Given the description of an element on the screen output the (x, y) to click on. 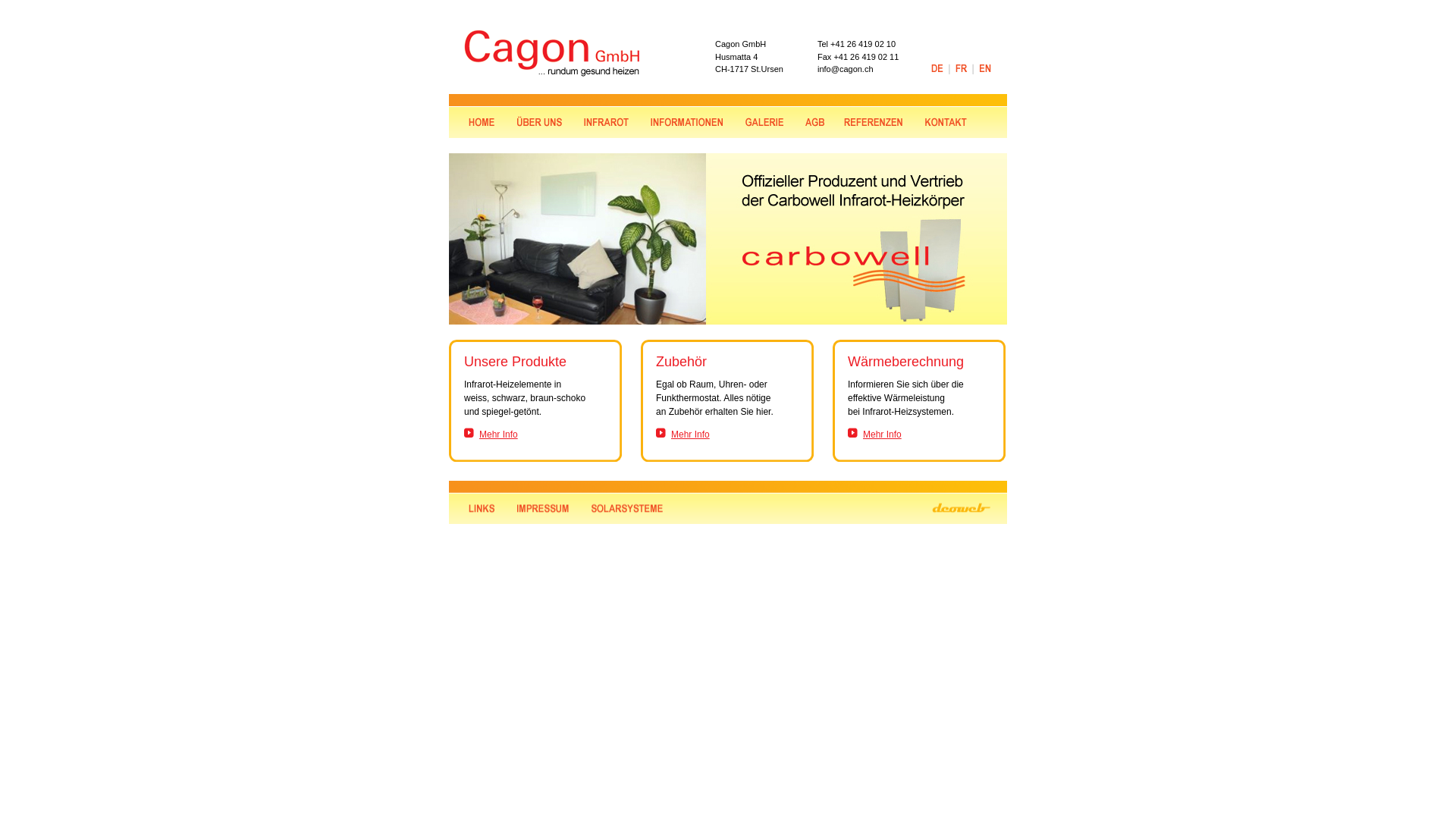
Mehr Info Element type: text (498, 434)
Mehr Info Element type: text (690, 434)
Mehr Info Element type: text (881, 434)
